Given the description of an element on the screen output the (x, y) to click on. 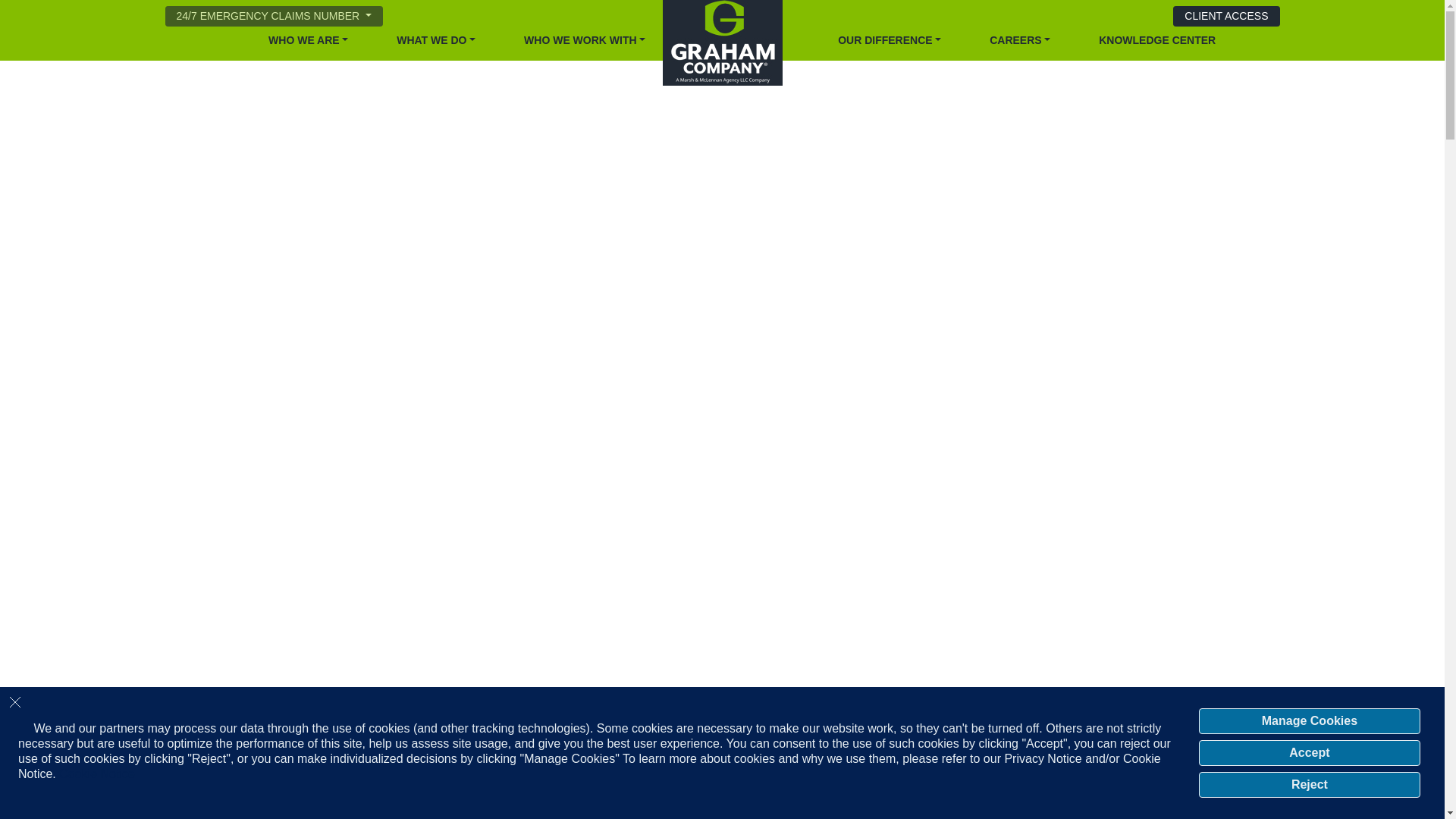
Accept (1309, 752)
WHAT WE DO (435, 40)
CAREERS (1019, 40)
Manage Cookies (1309, 720)
Reject (1309, 784)
WHO WE ARE (308, 40)
WHO WE WORK WITH (584, 40)
CLIENT ACCESS (1226, 15)
Cookie Notice (97, 774)
OUR DIFFERENCE (889, 40)
